Given the description of an element on the screen output the (x, y) to click on. 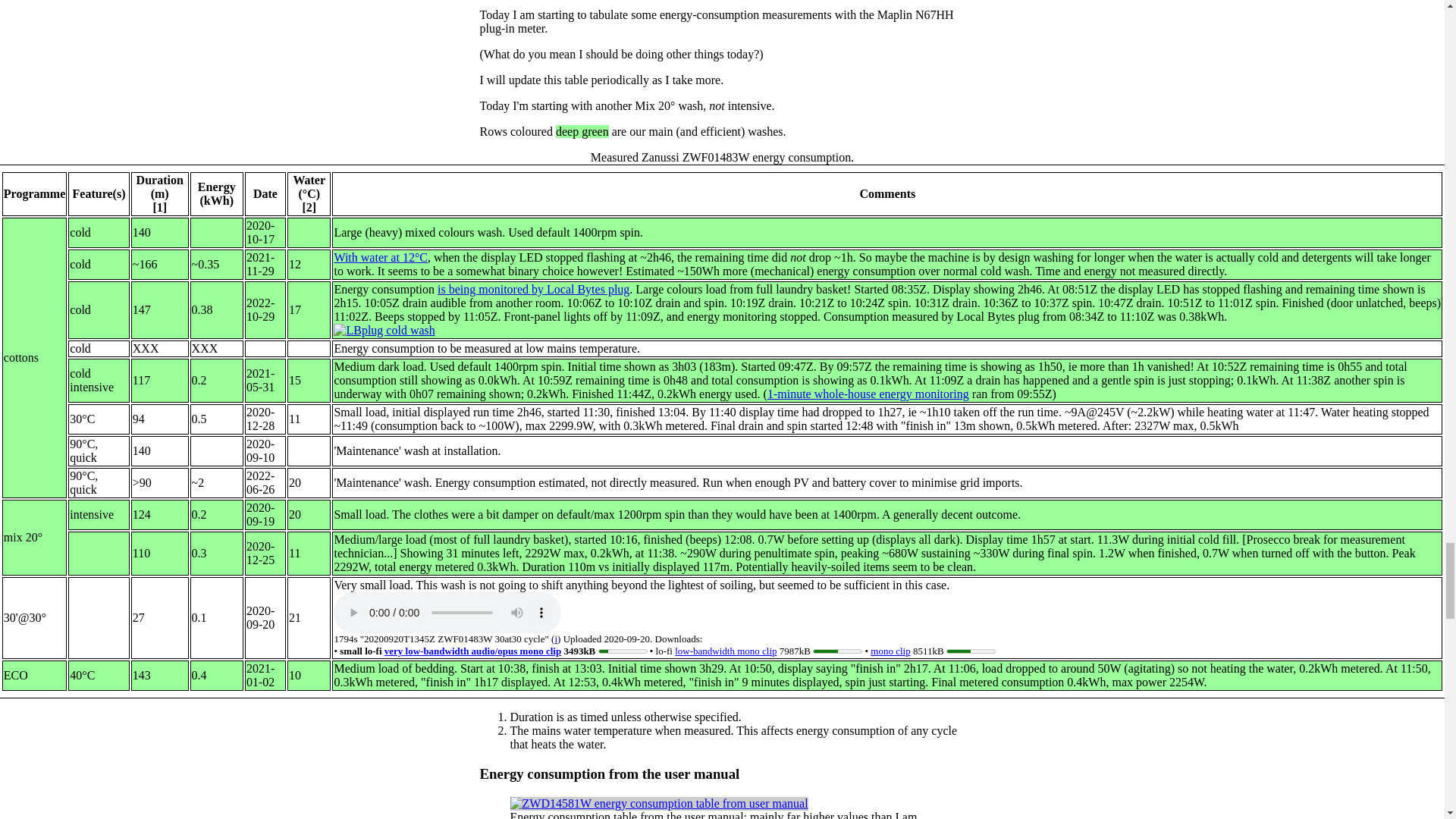
20200920T1345Z ZWF01483W 30at30 cycle (446, 612)
